Given the description of an element on the screen output the (x, y) to click on. 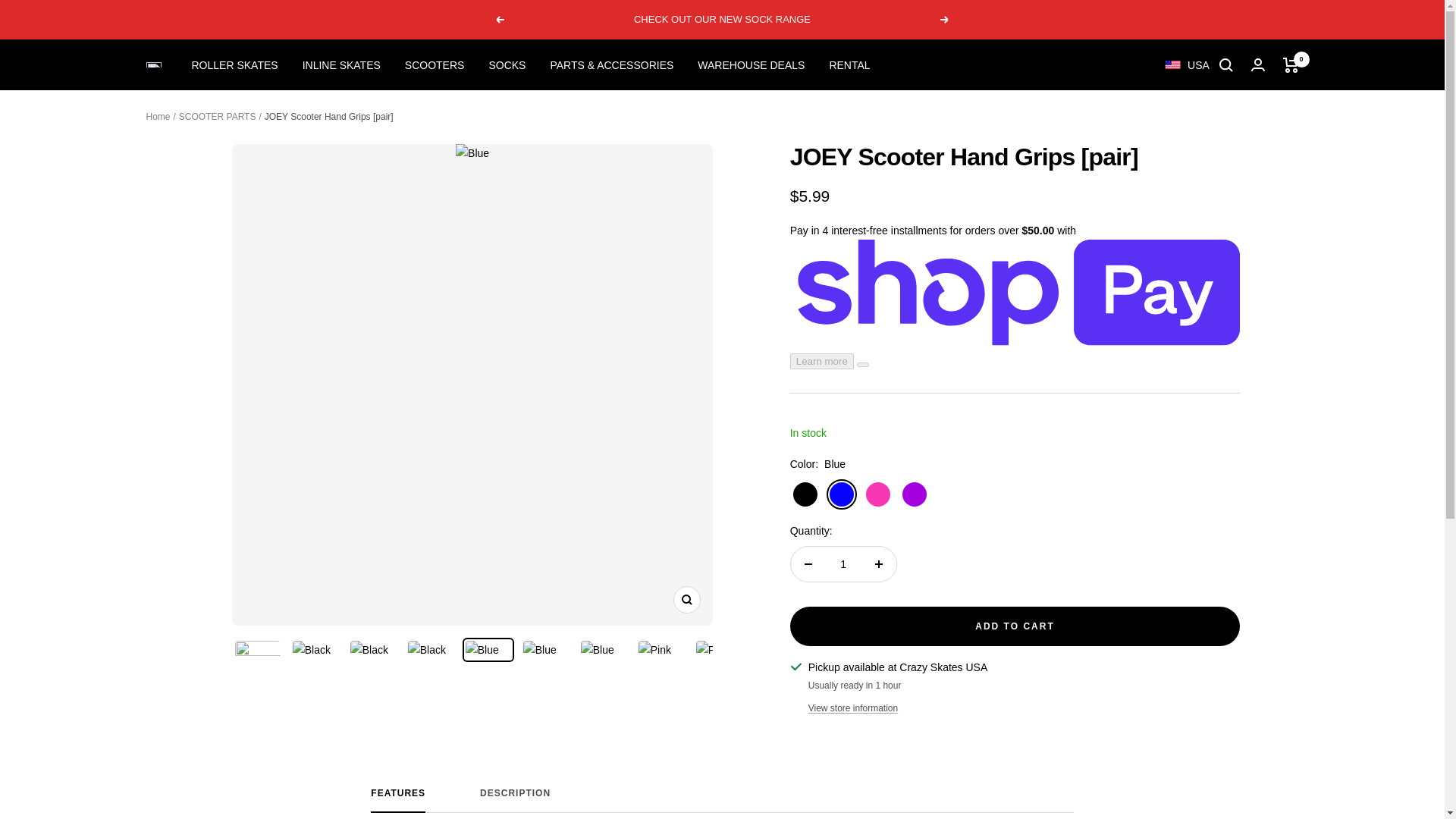
1 (843, 564)
Next (944, 19)
SCOOTERS (434, 65)
WAREHOUSE DEALS (722, 800)
Zoom (751, 65)
ROLLER SKATES (686, 599)
RENTAL (234, 65)
0 (848, 65)
